Given the description of an element on the screen output the (x, y) to click on. 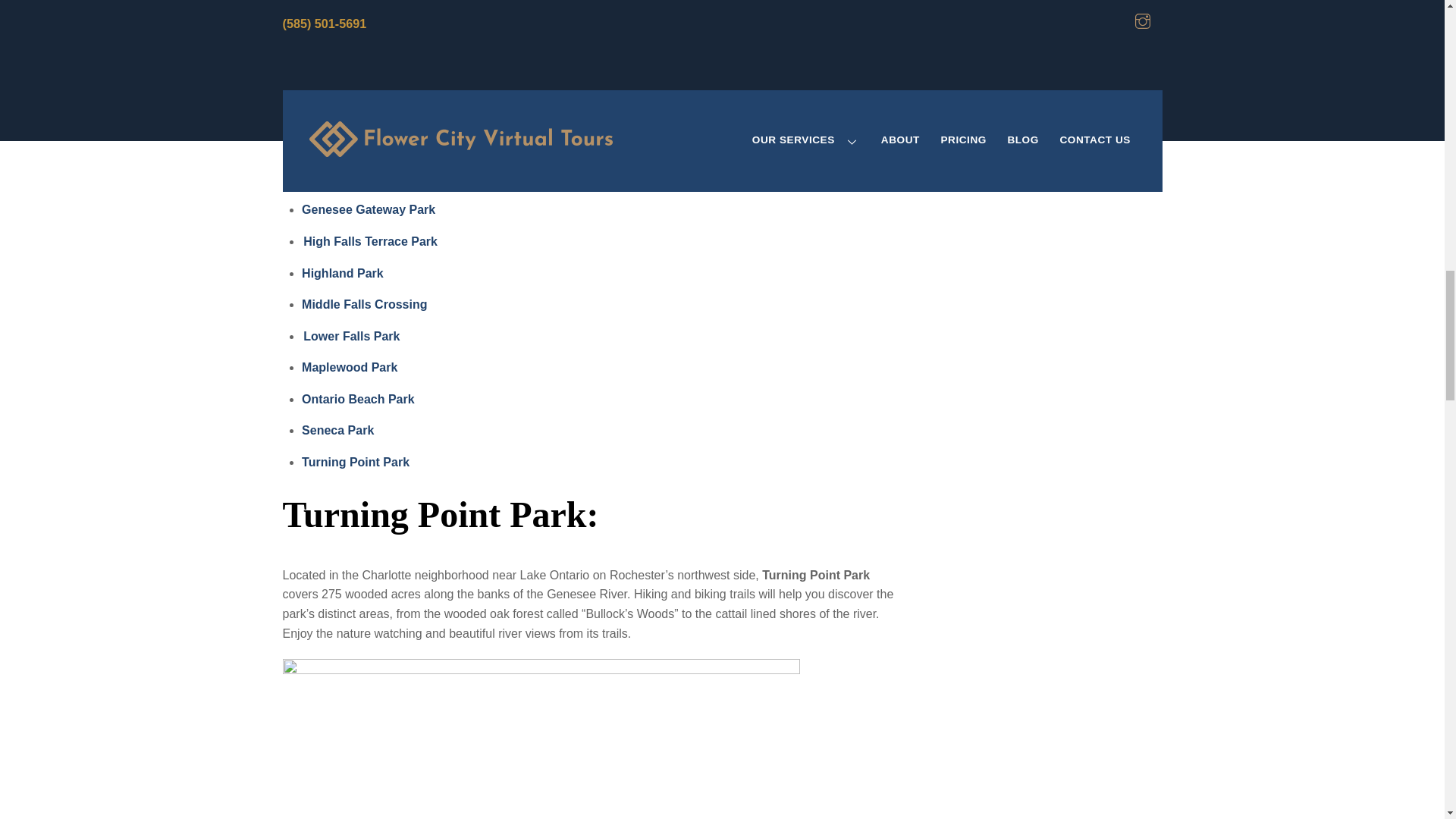
Maplewood Park (349, 367)
Turning Point Park (355, 461)
Lower Falls Park  (352, 336)
Durand Eastman Park (364, 178)
Seneca Park (338, 430)
High Falls Terrace Park  (371, 241)
Highland Park (343, 273)
Bausch and Lomb Riverside Park  (399, 146)
Genesee Valley Greenway Trail (411, 41)
